Given the description of an element on the screen output the (x, y) to click on. 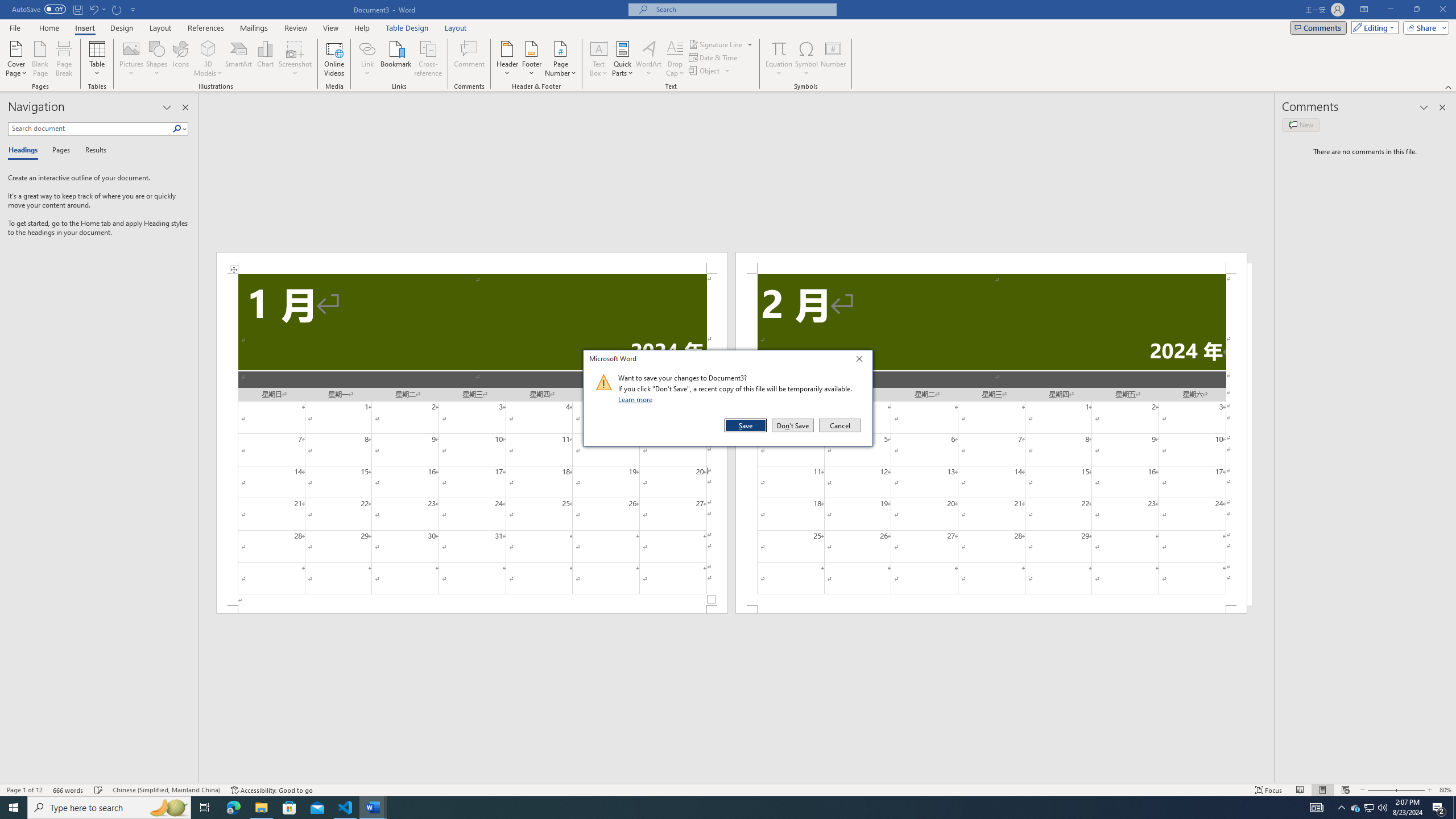
Search (177, 128)
Notification Chevron (1341, 807)
Review (295, 28)
Repeat Doc Close (117, 9)
Header (507, 58)
Microsoft Store (289, 807)
Design (122, 28)
Table (97, 58)
Don't Save (792, 425)
Link (367, 48)
Bookmark... (396, 58)
Collapse the Ribbon (1448, 86)
Action Center, 2 new notifications (1439, 807)
Cover Page (16, 58)
